Given the description of an element on the screen output the (x, y) to click on. 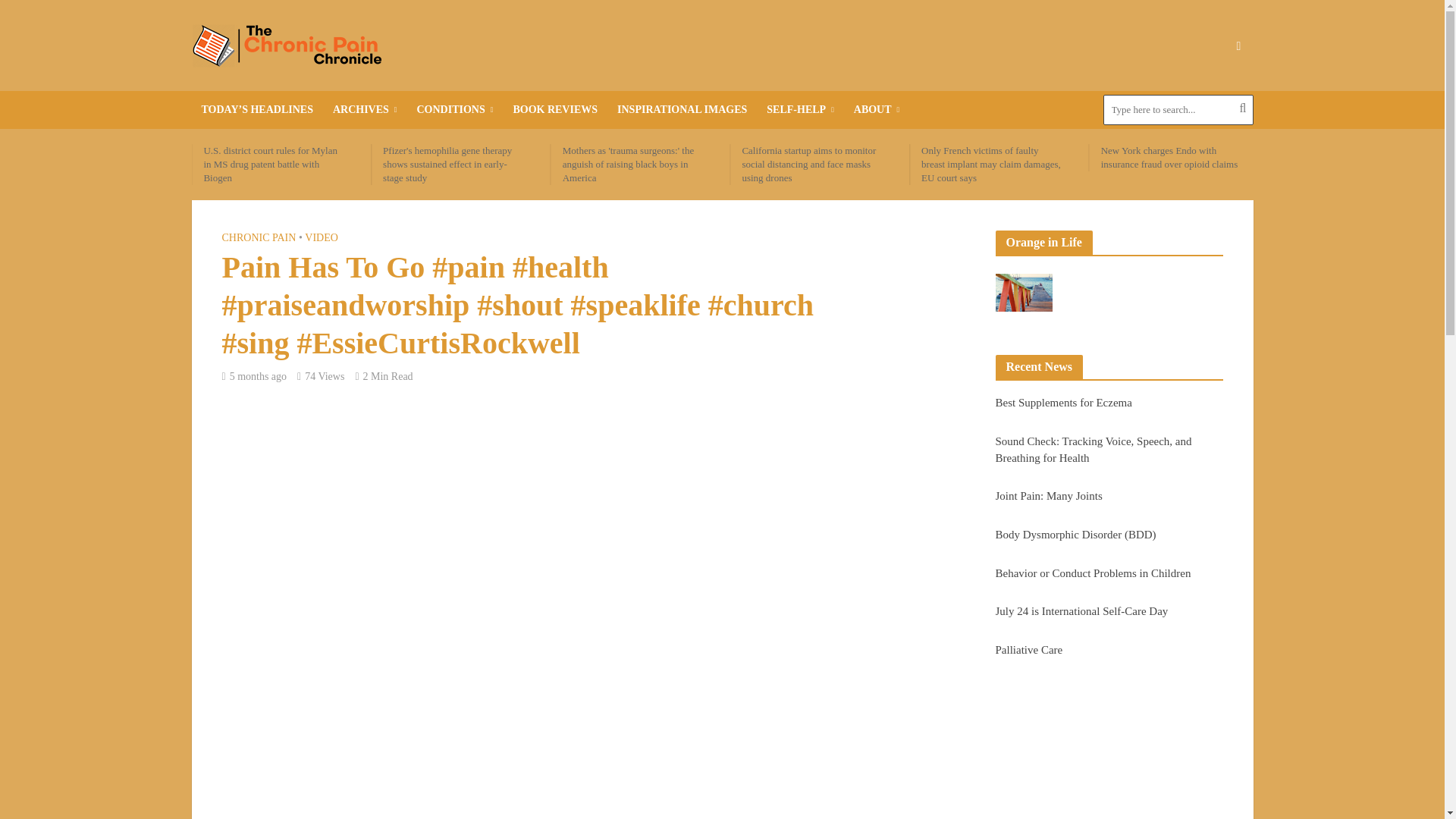
CONDITIONS (454, 109)
SELF-HELP (800, 109)
ABOUT (876, 109)
BOOK REVIEWS (554, 109)
INSPIRATIONAL IMAGES (682, 109)
